Given the description of an element on the screen output the (x, y) to click on. 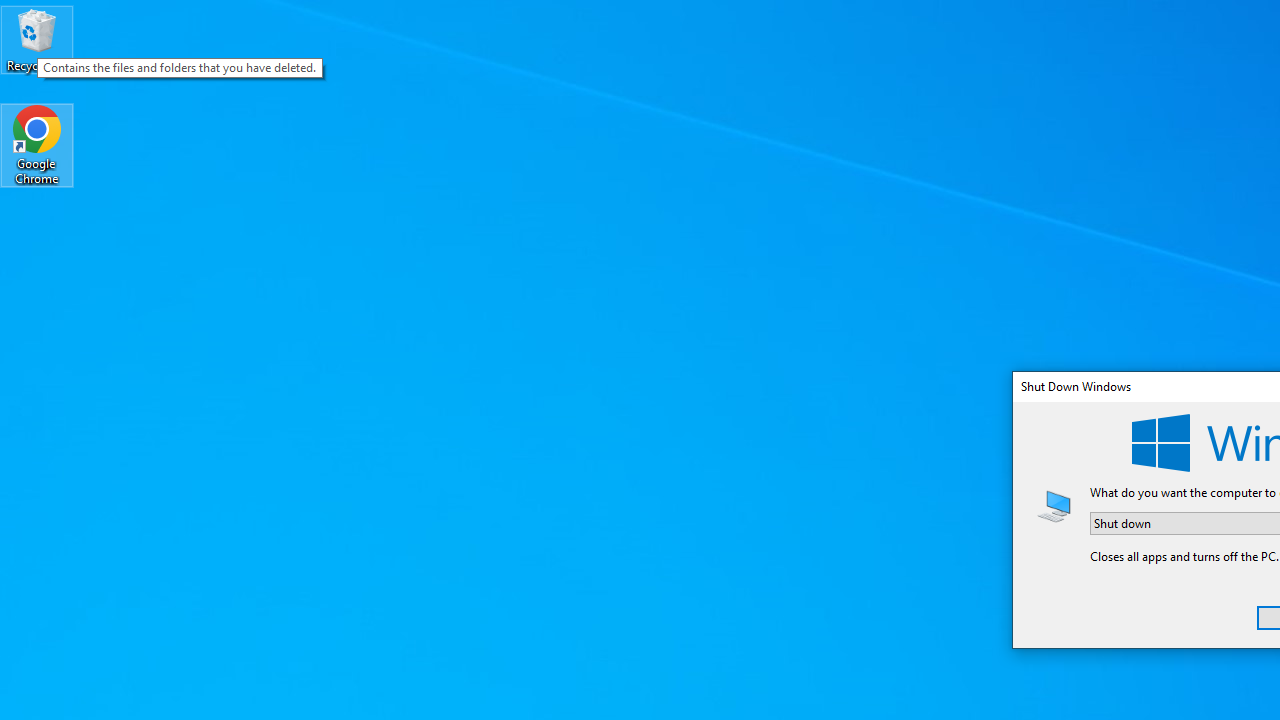
AutomationID: 2027 (1053, 505)
